Given the description of an element on the screen output the (x, y) to click on. 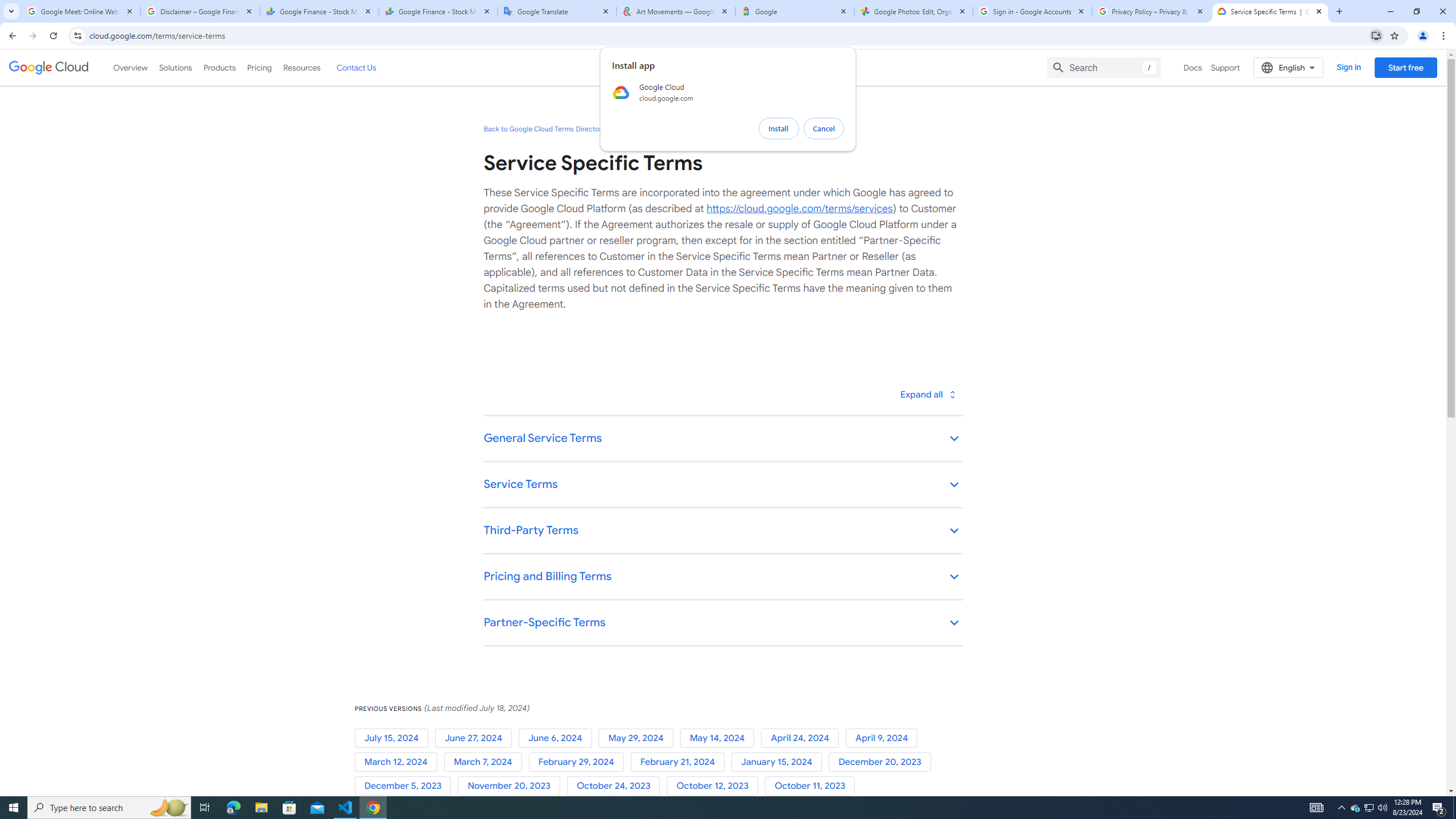
Contact Us (355, 67)
May 14, 2024 (720, 737)
Resources (301, 67)
March 12, 2024 (398, 761)
December 20, 2023 (882, 761)
